Given the description of an element on the screen output the (x, y) to click on. 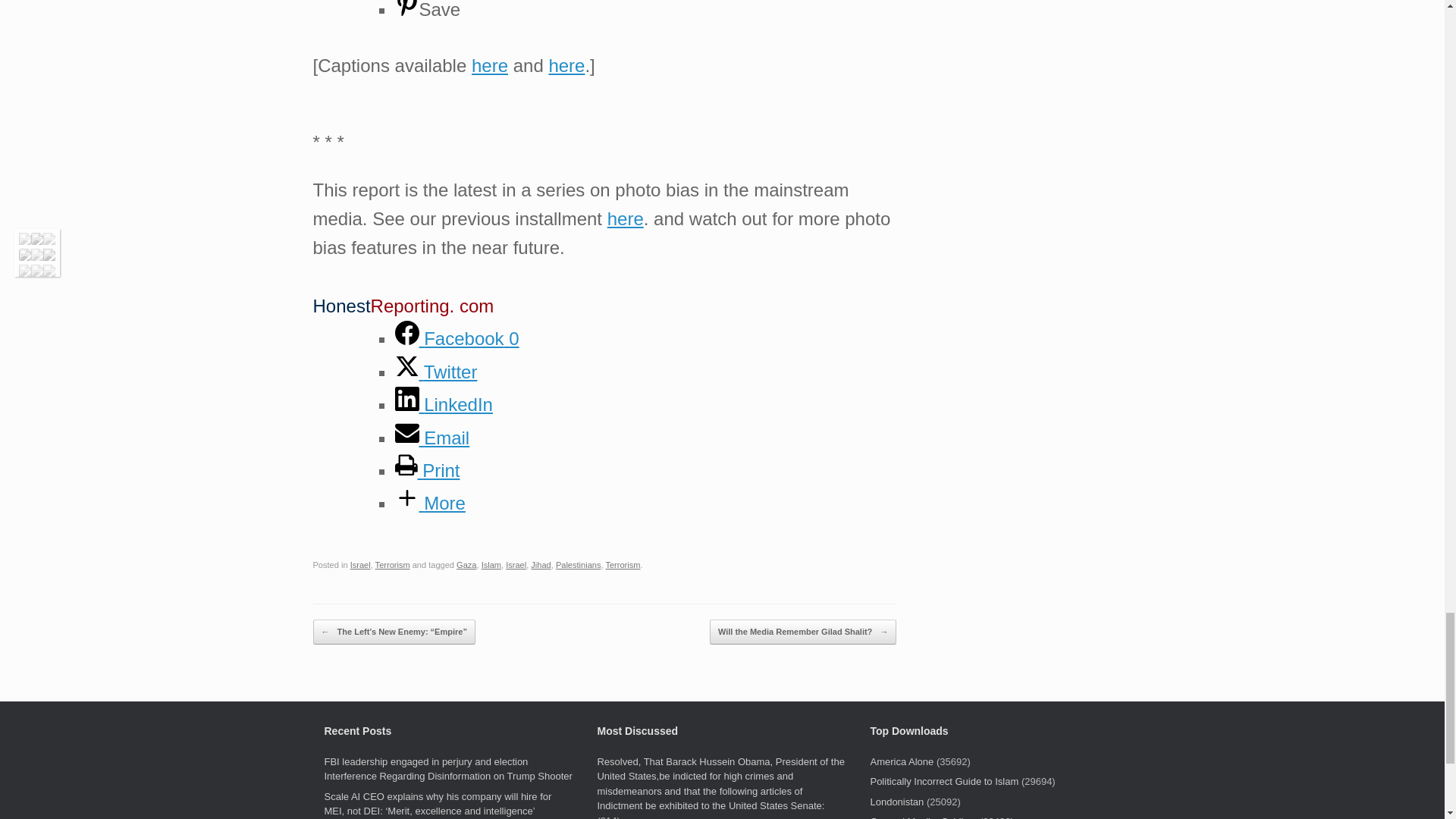
Twitter (435, 371)
here (625, 218)
Facebook 0 (456, 338)
Email (431, 437)
More (429, 503)
Print (427, 470)
here (489, 65)
Terrorism (392, 564)
LinkedIn (443, 403)
Israel (360, 564)
